Given the description of an element on the screen output the (x, y) to click on. 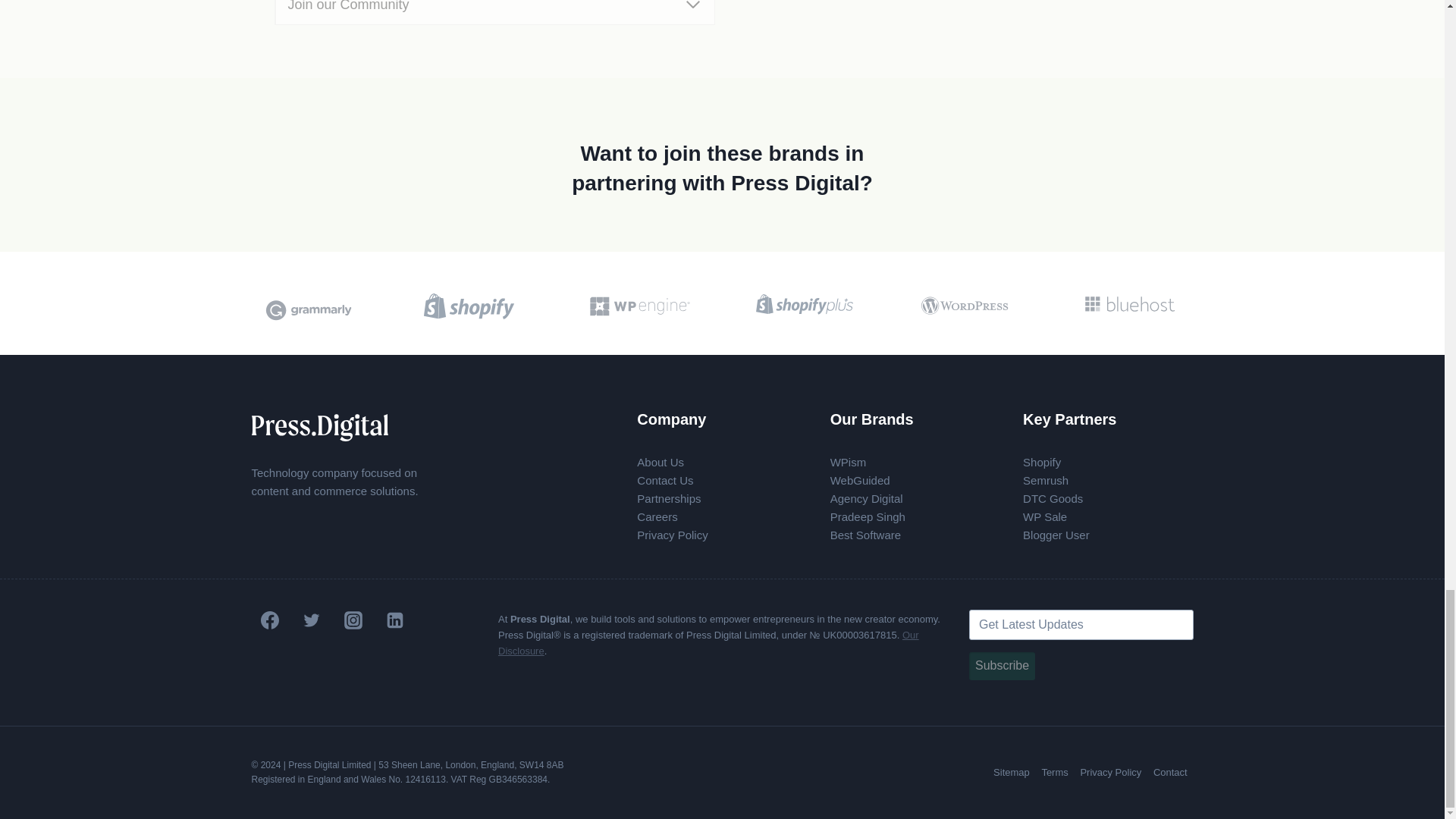
Pradeep Singh (867, 516)
Careers (657, 516)
Semrush (1045, 480)
WP Sale (1045, 516)
WebGuided (859, 480)
Privacy Policy (672, 534)
Best Software (865, 534)
Partnerships (668, 498)
DTC Goods (1053, 498)
Blogger User (1056, 534)
WPism (847, 461)
Subscribe (1002, 665)
Agency Digital (865, 498)
Contact Us (665, 480)
Our Disclosure (707, 642)
